Given the description of an element on the screen output the (x, y) to click on. 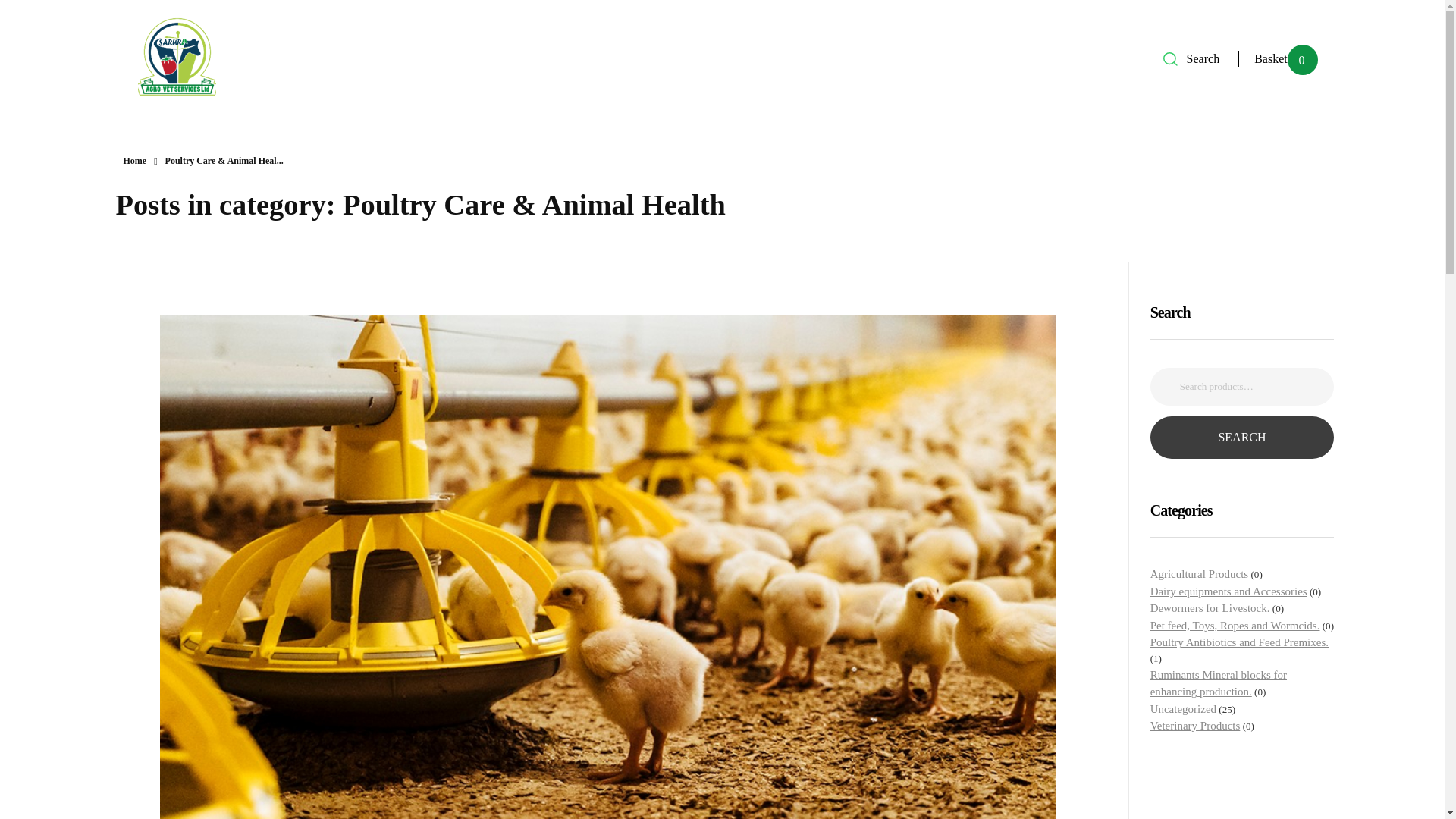
Dewormers for Livestock. (1209, 607)
Sarura Agrovet Services Ltd (176, 56)
Pet feed, Toys, Ropes and Wormcids. (1235, 625)
SEARCH (1242, 437)
Uncategorized (1182, 708)
Search (1191, 58)
Poultry Antibiotics and Feed Premixes. (1238, 642)
Agricultural Products (1199, 573)
Sarura Agrovet Services Ltd (258, 120)
Home (134, 160)
